Given the description of an element on the screen output the (x, y) to click on. 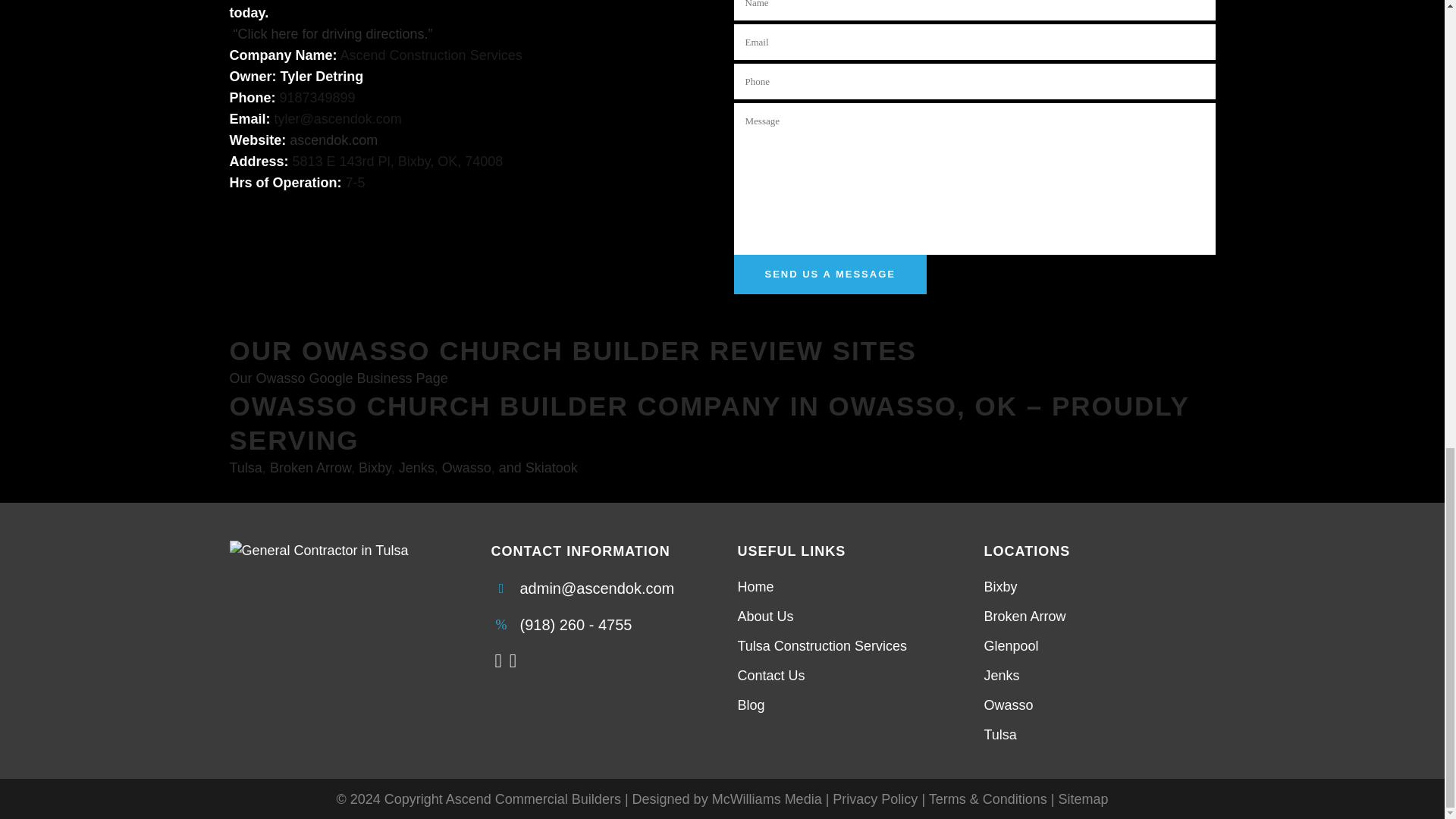
Broken Arrow (309, 467)
ascendok.com (333, 140)
Send Us A Message (829, 274)
Send Us A Message (829, 274)
Bixby (374, 467)
Home (849, 586)
Our Owasso Google Business Page (337, 378)
Skiatook (551, 467)
Owasso (467, 467)
and (512, 467)
